Given the description of an element on the screen output the (x, y) to click on. 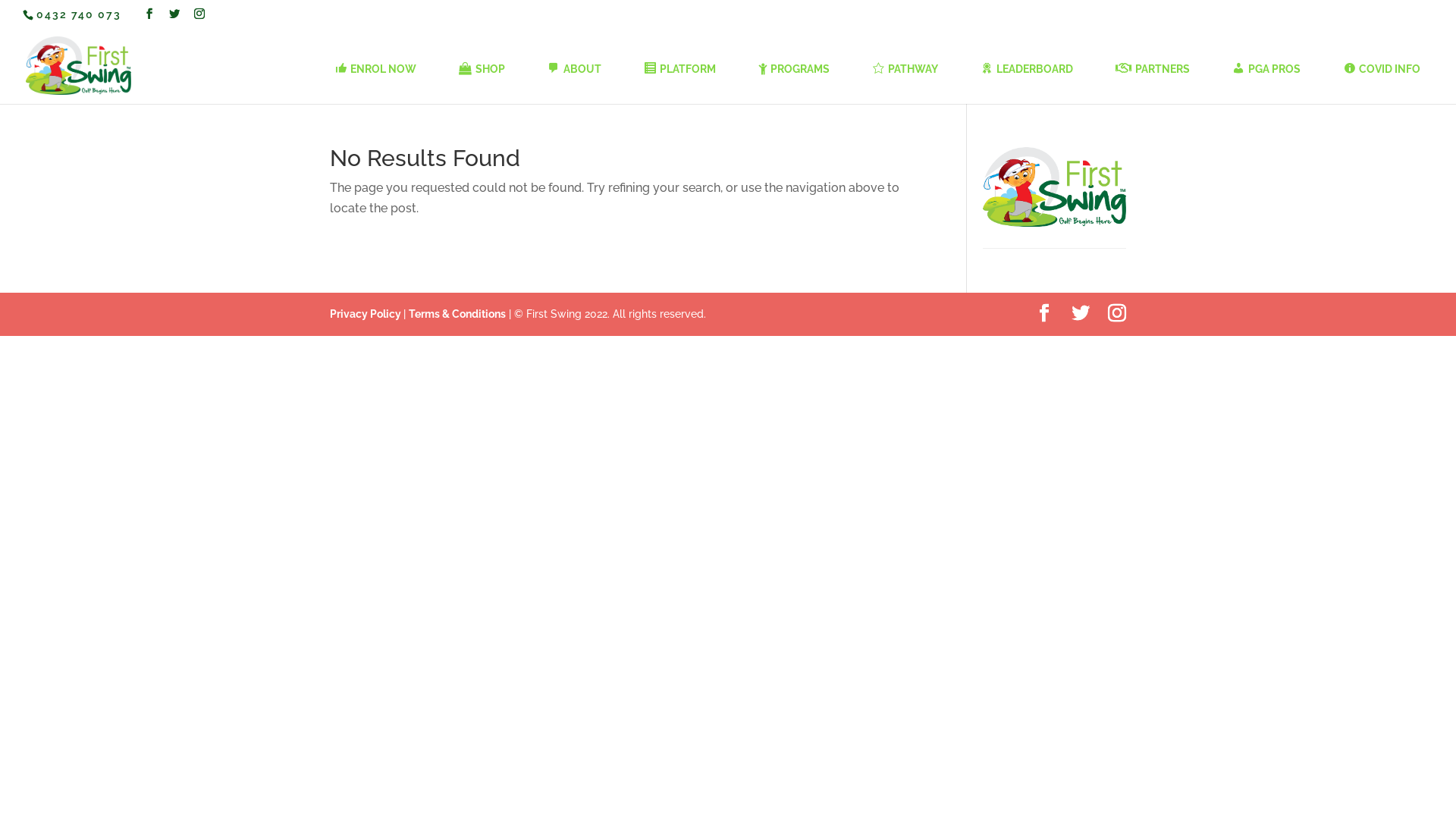
PARTNERS Element type: text (1152, 79)
LEADERBOARD Element type: text (1026, 79)
PROGRAMS Element type: text (793, 79)
Privacy Policy Element type: text (366, 313)
SHOP Element type: text (481, 79)
PATHWAY Element type: text (904, 79)
ABOUT Element type: text (573, 79)
PLATFORM Element type: text (679, 79)
COVID INFO Element type: text (1381, 79)
PGA PROS Element type: text (1265, 79)
0432 740 073 Element type: text (78, 13)
Terms & Conditions Element type: text (456, 313)
ENROL NOW Element type: text (375, 79)
